Given the description of an element on the screen output the (x, y) to click on. 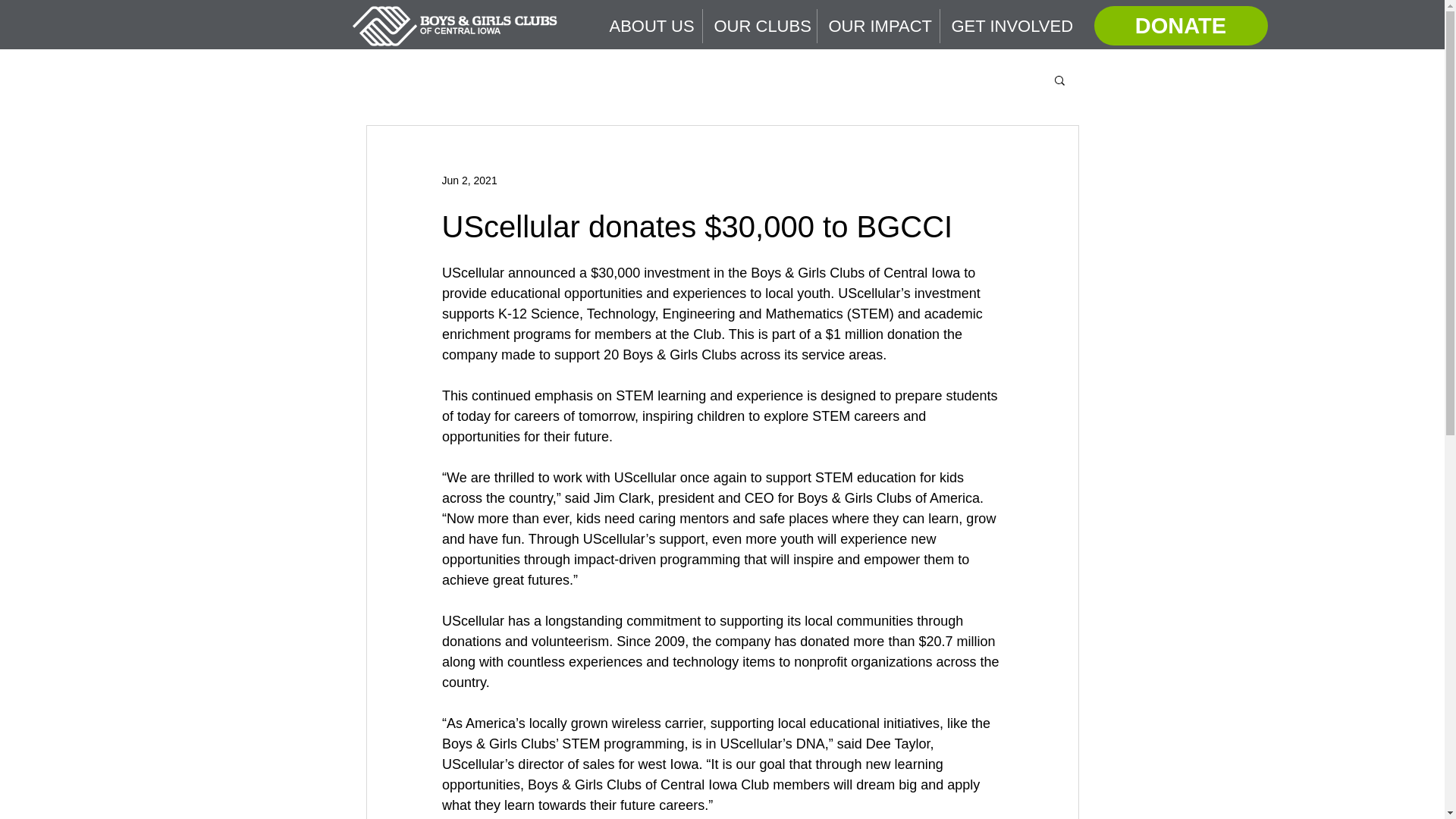
OUR IMPACT (877, 26)
ABOUT US (648, 26)
Jun 2, 2021 (468, 180)
OUR CLUBS (758, 26)
DONATE (1179, 25)
GET INVOLVED (1008, 26)
